Given the description of an element on the screen output the (x, y) to click on. 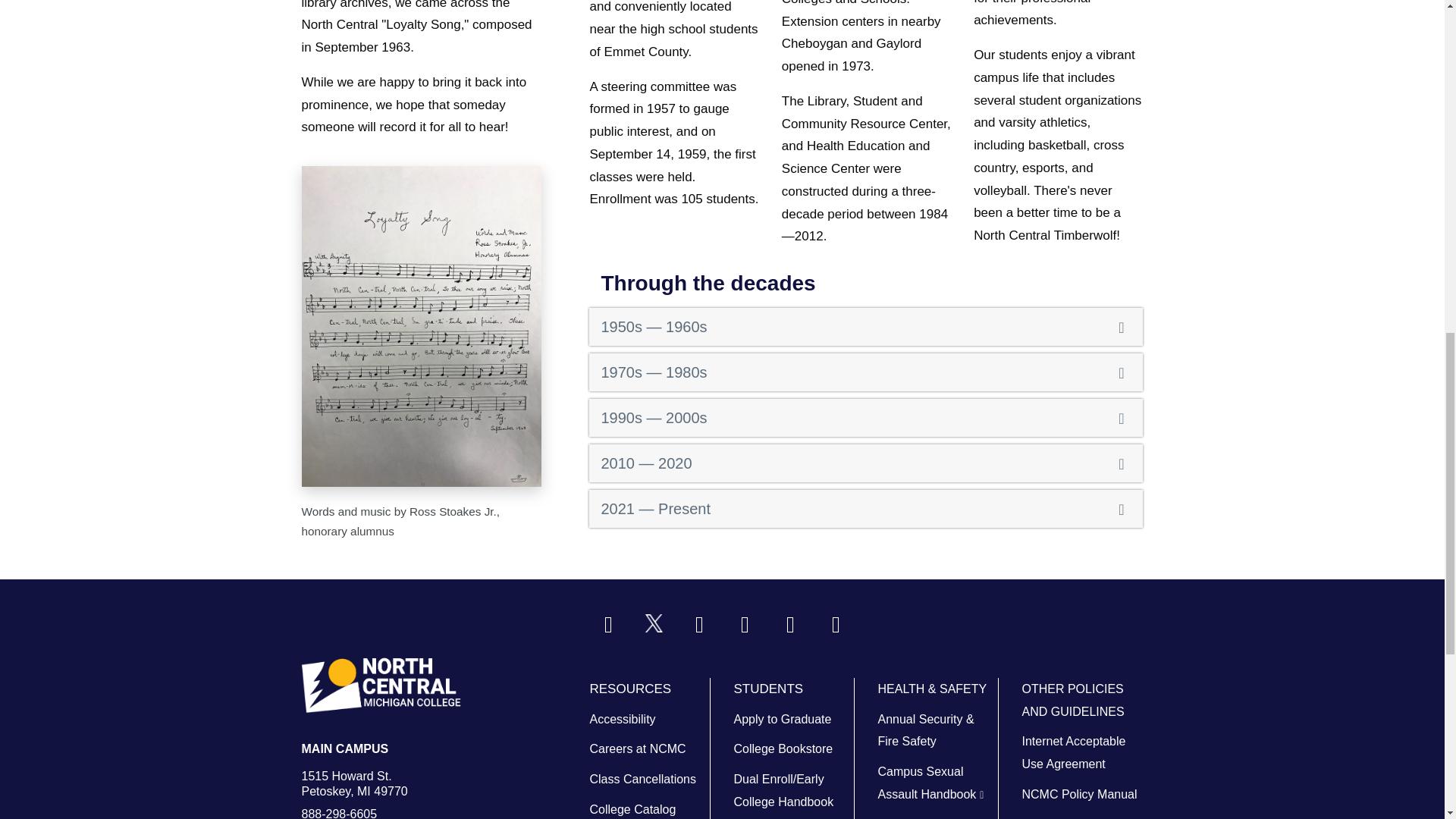
Apply for Graduation (782, 718)
Class Cancellations (642, 779)
NCN Student Handbook (782, 790)
Accessibility (622, 718)
